Given the description of an element on the screen output the (x, y) to click on. 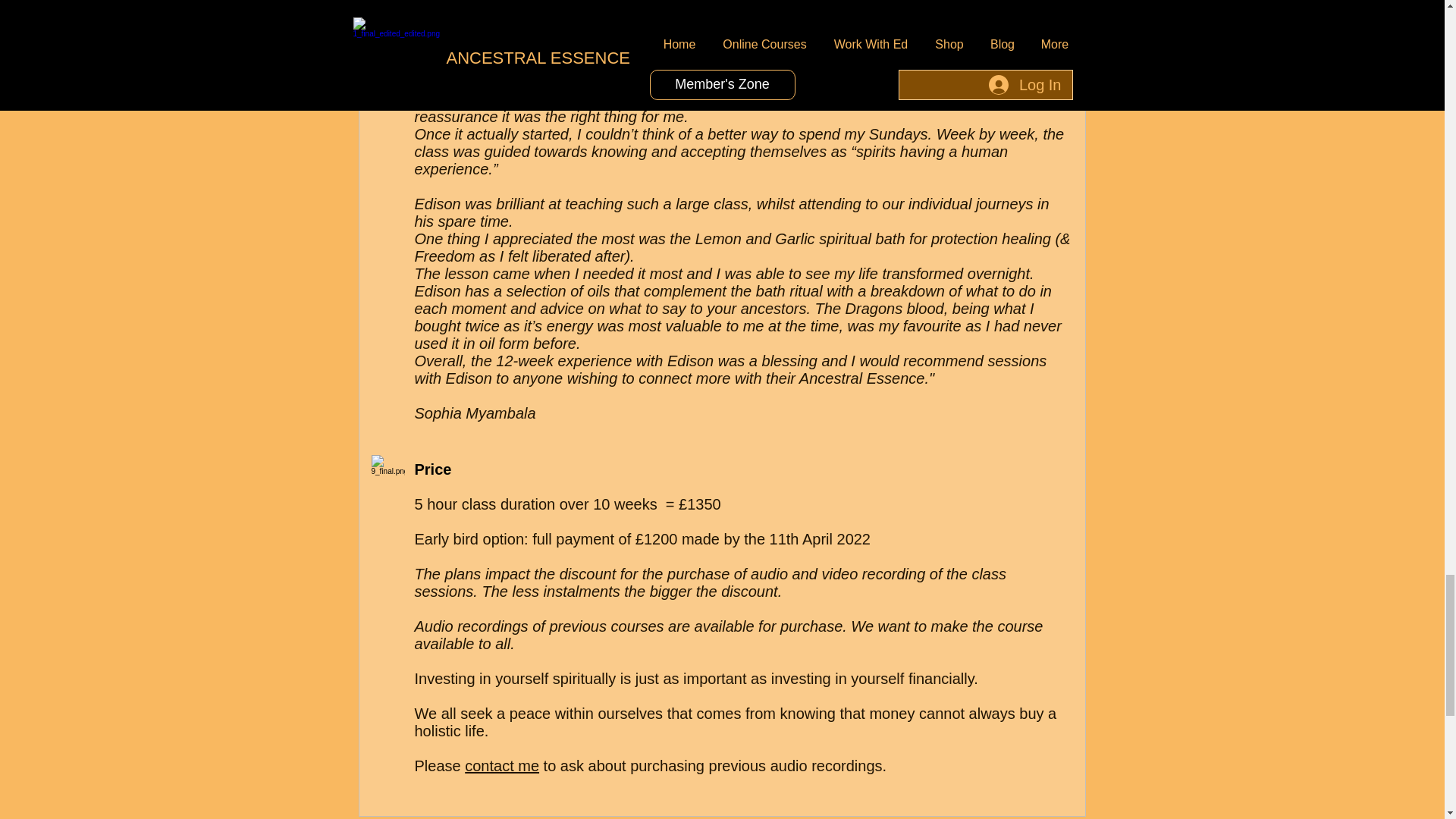
The Dragons blood (879, 308)
contact me (501, 765)
